Given the description of an element on the screen output the (x, y) to click on. 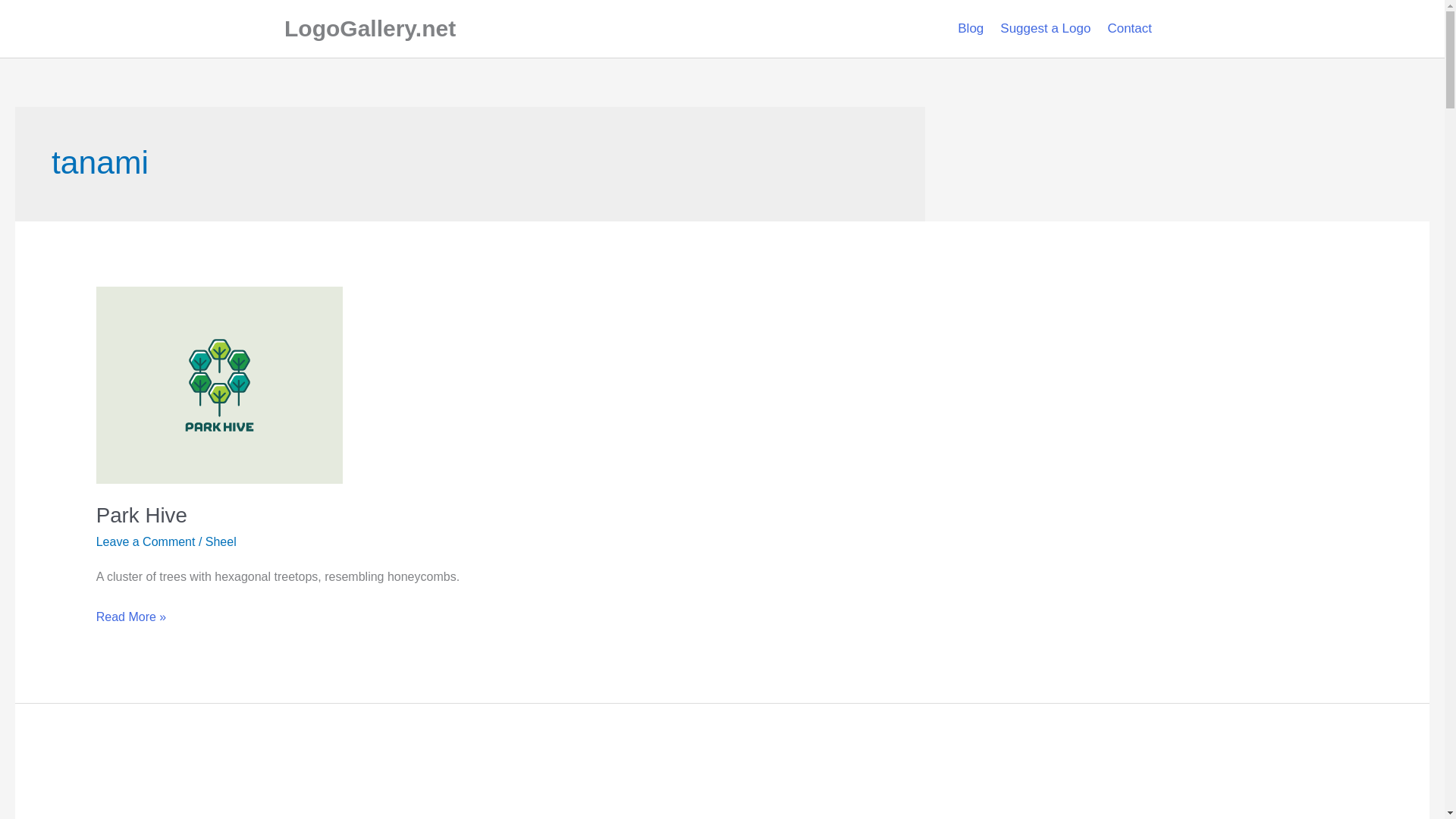
Contact (1129, 28)
Sheel (220, 541)
View all posts by Sheel (220, 541)
Park Hive (141, 515)
Blog (970, 28)
Blog (970, 28)
LogoGallery.net (369, 27)
Suggest a Logo (1045, 28)
Leave a Comment (145, 541)
